Given the description of an element on the screen output the (x, y) to click on. 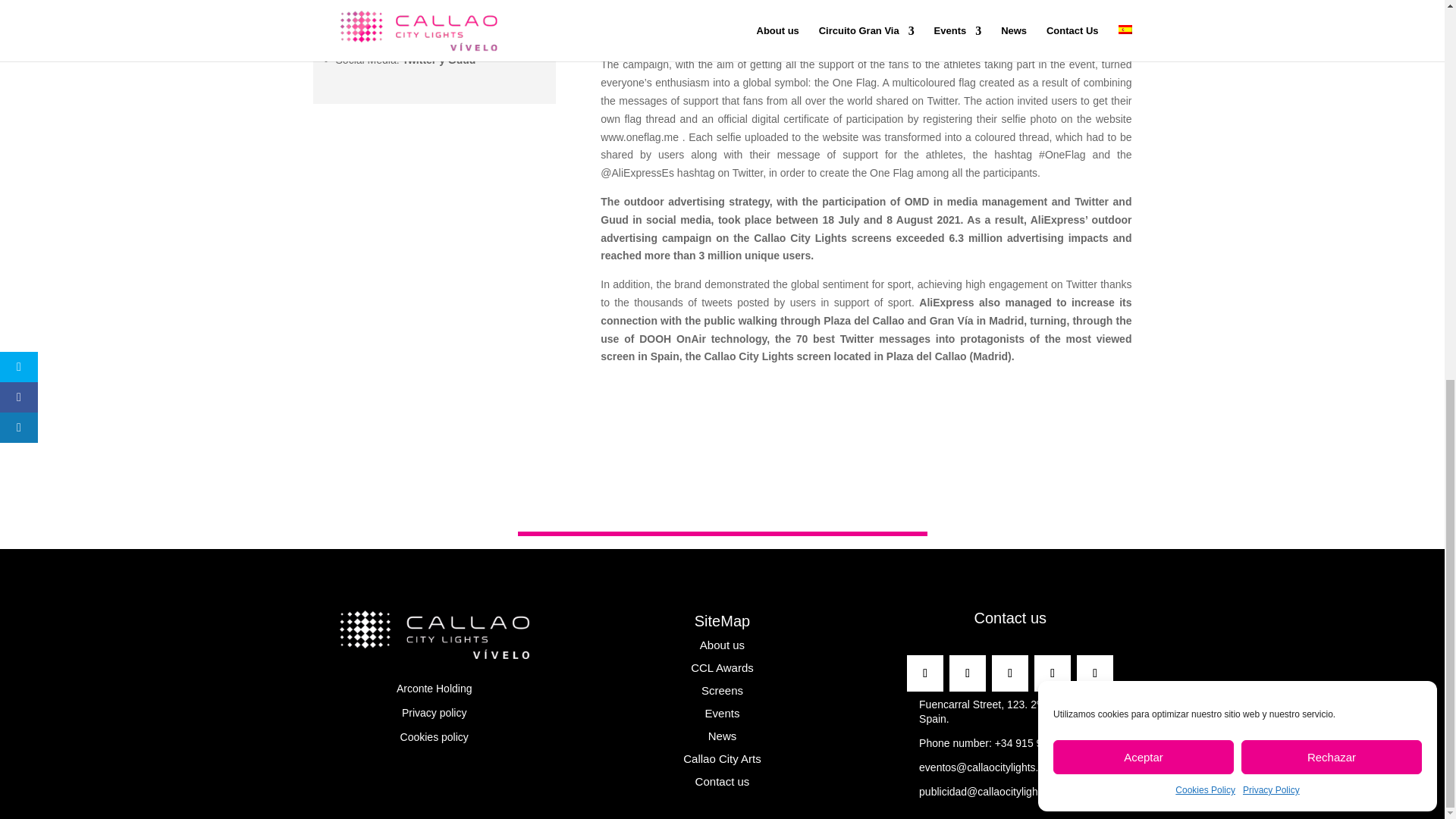
Privacy policy (434, 712)
callaocitylights-logo (434, 634)
Cookies Policy (1204, 84)
Cookies policy (434, 736)
Follow on X (1051, 673)
Arconte Holding (433, 688)
Follow on Facebook (967, 673)
Follow on Youtube (1095, 673)
Follow on LinkedIn (925, 673)
Events (983, 767)
